Given the description of an element on the screen output the (x, y) to click on. 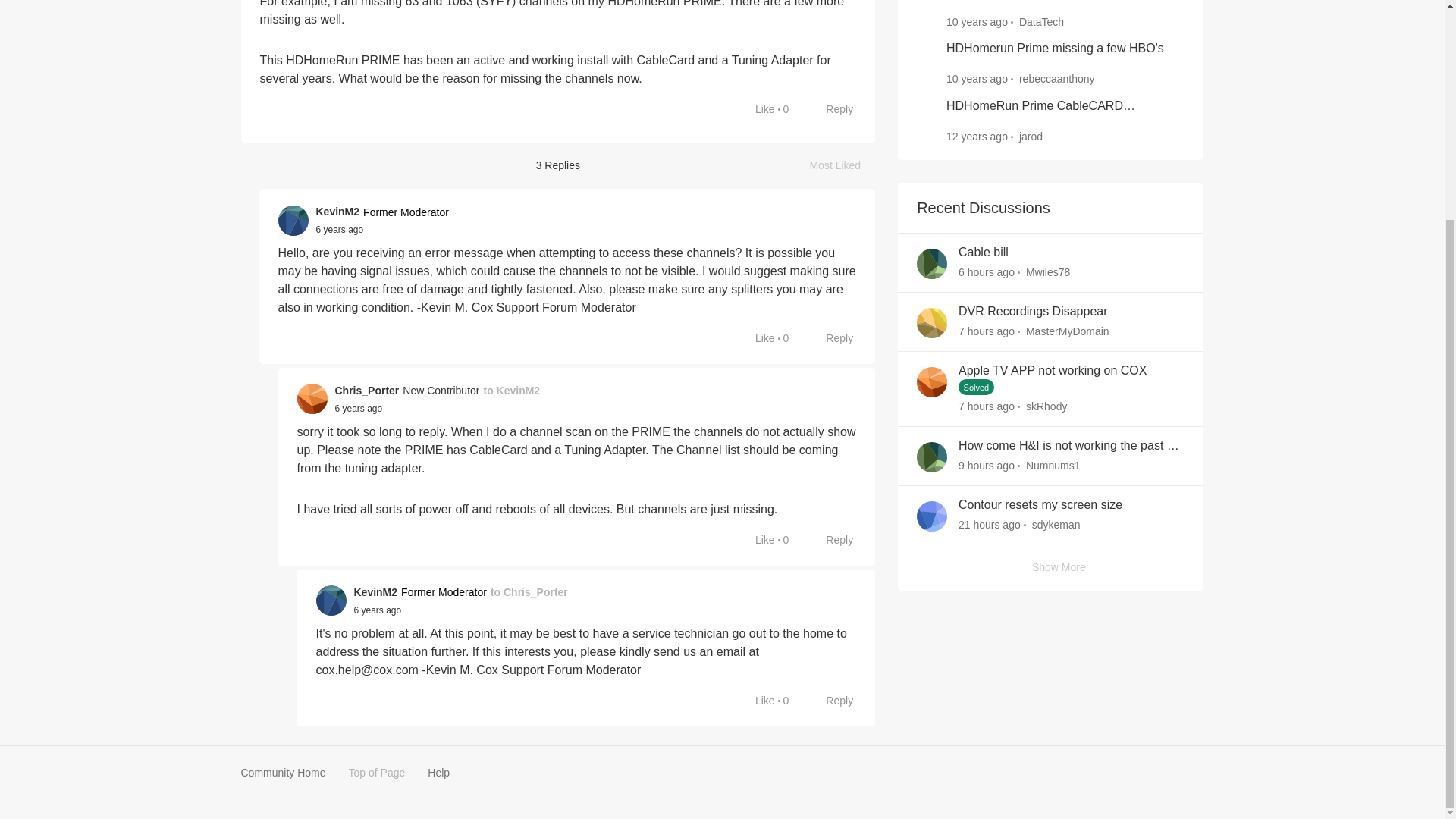
December 4, 2012 at 11:27 PM (976, 136)
July 24, 2019 at 6:01 PM (377, 610)
Like (756, 338)
July 24, 2019 at 10:25 AM (358, 408)
6 years ago (358, 408)
Cable bill (983, 252)
HDHomeRun Prime CableCARD Authorization Troubles (1065, 106)
Apple TV APP not working on COX (1052, 371)
DVR Recordings Disappear (1033, 311)
Like (756, 109)
